Given the description of an element on the screen output the (x, y) to click on. 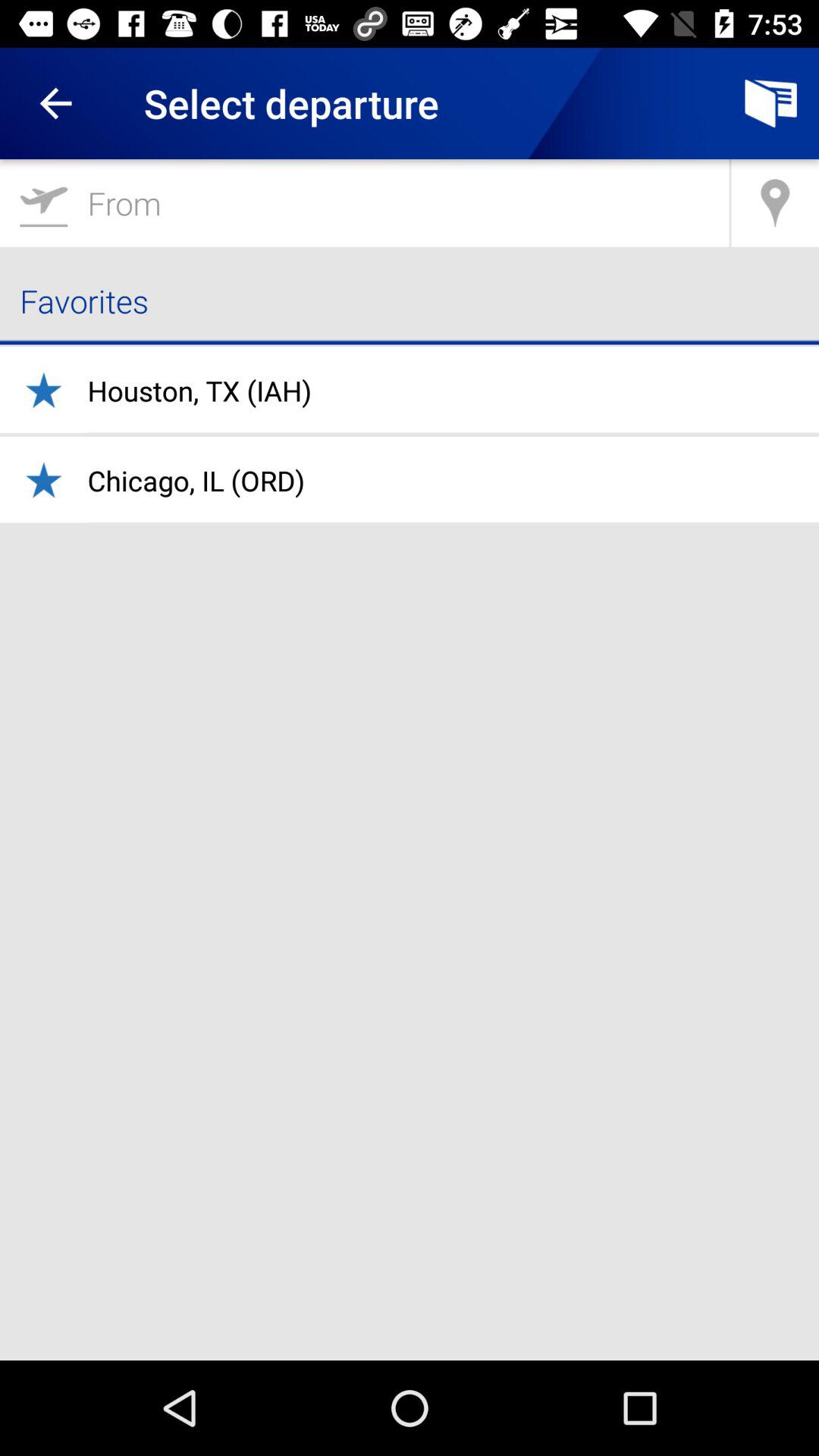
turn on the icon next to select departure item (771, 103)
